Given the description of an element on the screen output the (x, y) to click on. 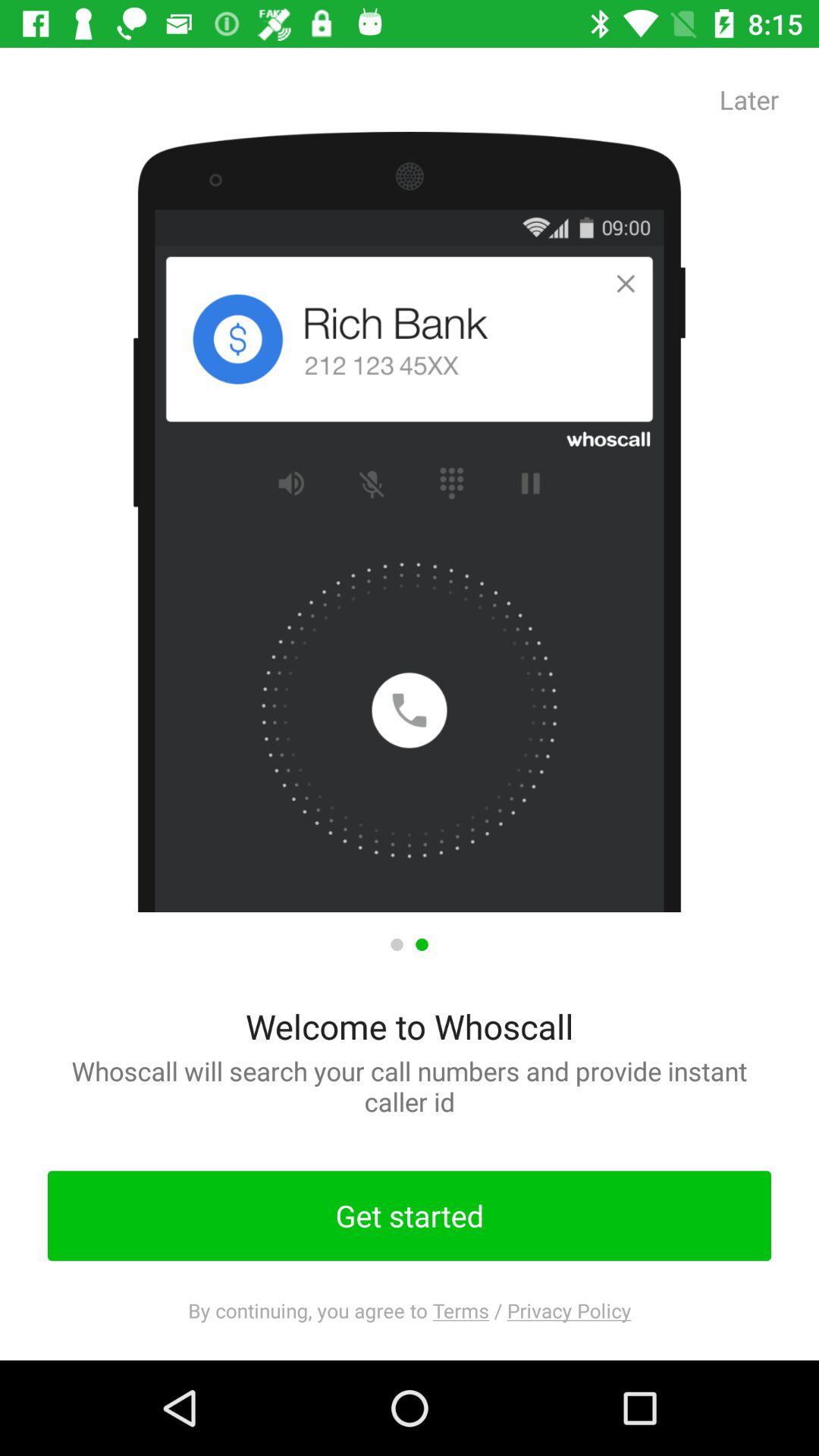
press the app below get started icon (409, 1310)
